Given the description of an element on the screen output the (x, y) to click on. 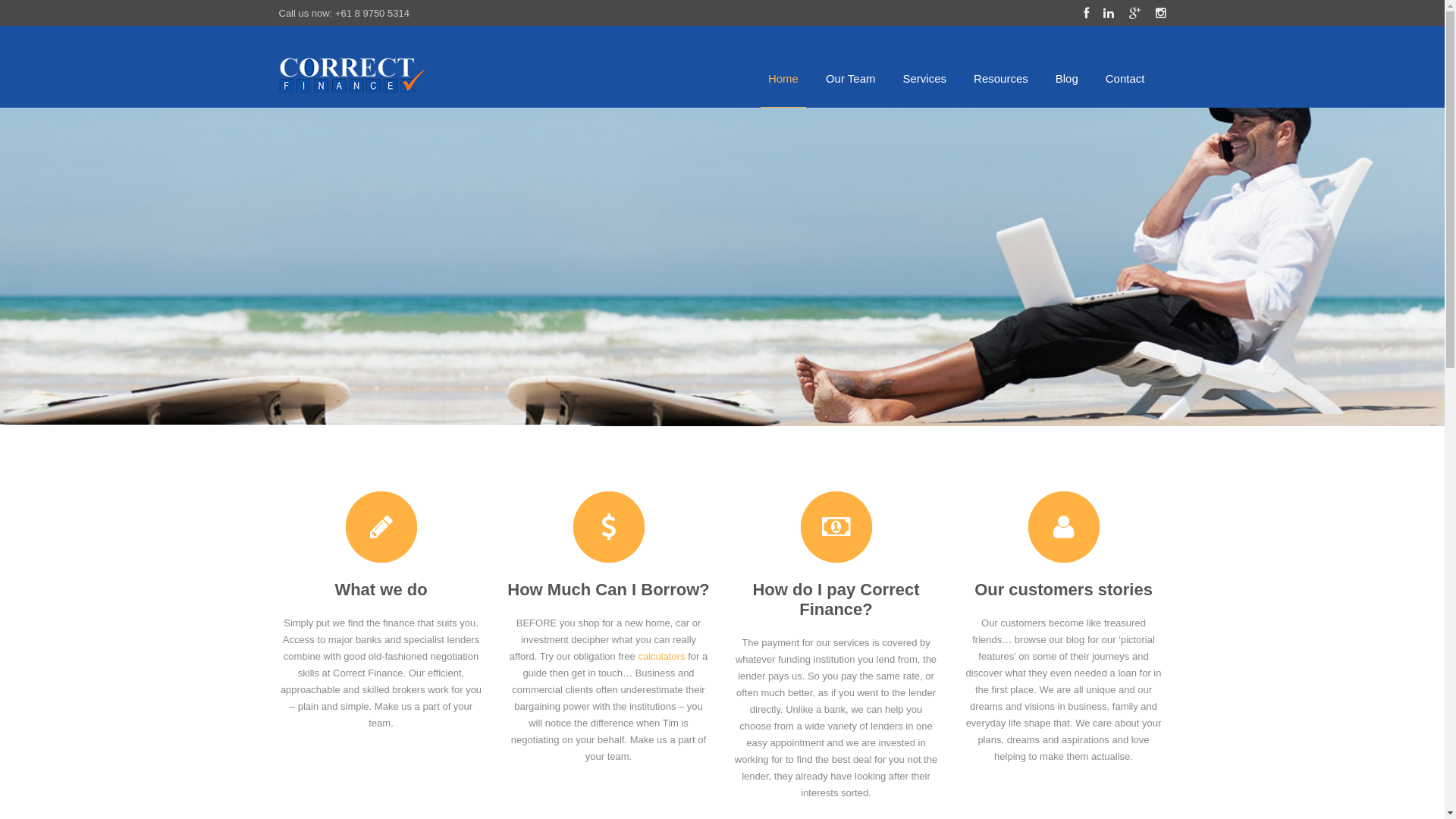
How Much Can I Borrow? Element type: text (608, 589)
Home Element type: text (783, 66)
Our customers stories Element type: text (1063, 589)
Services Element type: text (924, 66)
Blog Element type: text (1066, 66)
What we do Element type: text (381, 589)
Resources Element type: text (1000, 66)
Contact Element type: text (1125, 66)
Our Team Element type: text (850, 66)
calculators Element type: text (660, 656)
